Given the description of an element on the screen output the (x, y) to click on. 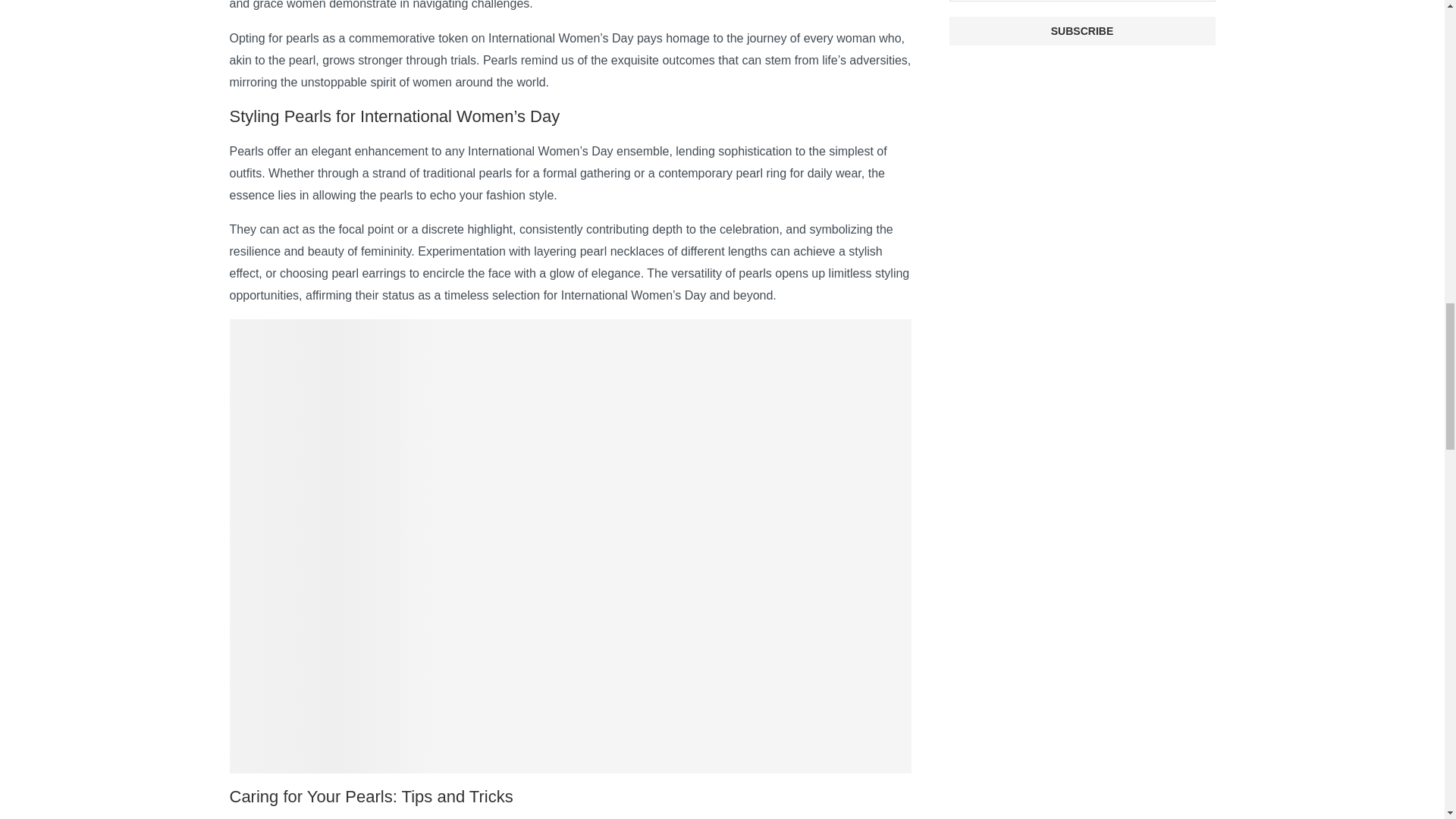
Subscribe (1082, 30)
